Given the description of an element on the screen output the (x, y) to click on. 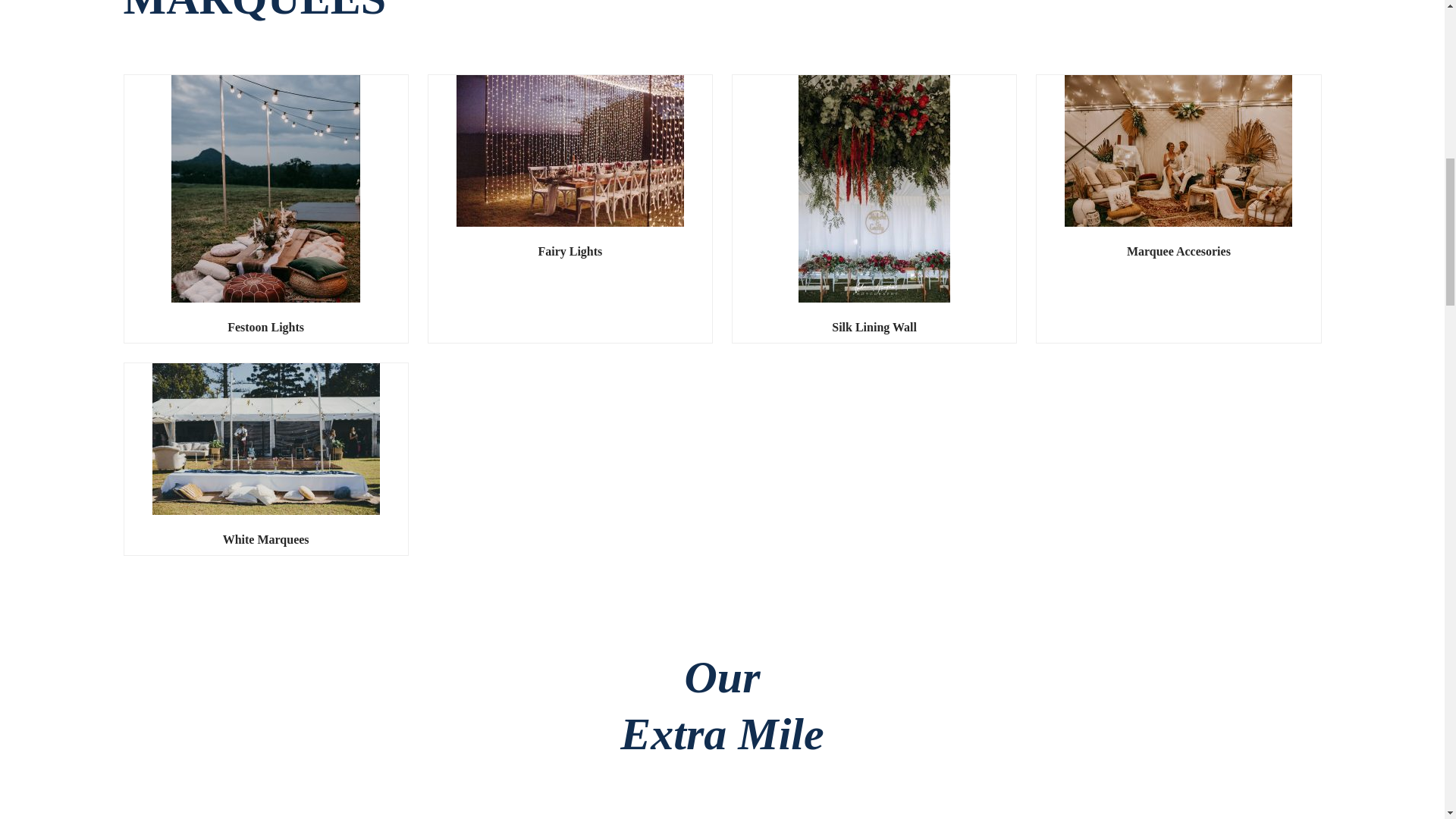
Marquee Accesories (1178, 251)
Silk Lining Wall (874, 327)
White Marquees (265, 539)
Fairy Lights (569, 251)
Festoon Lights (265, 327)
